Given the description of an element on the screen output the (x, y) to click on. 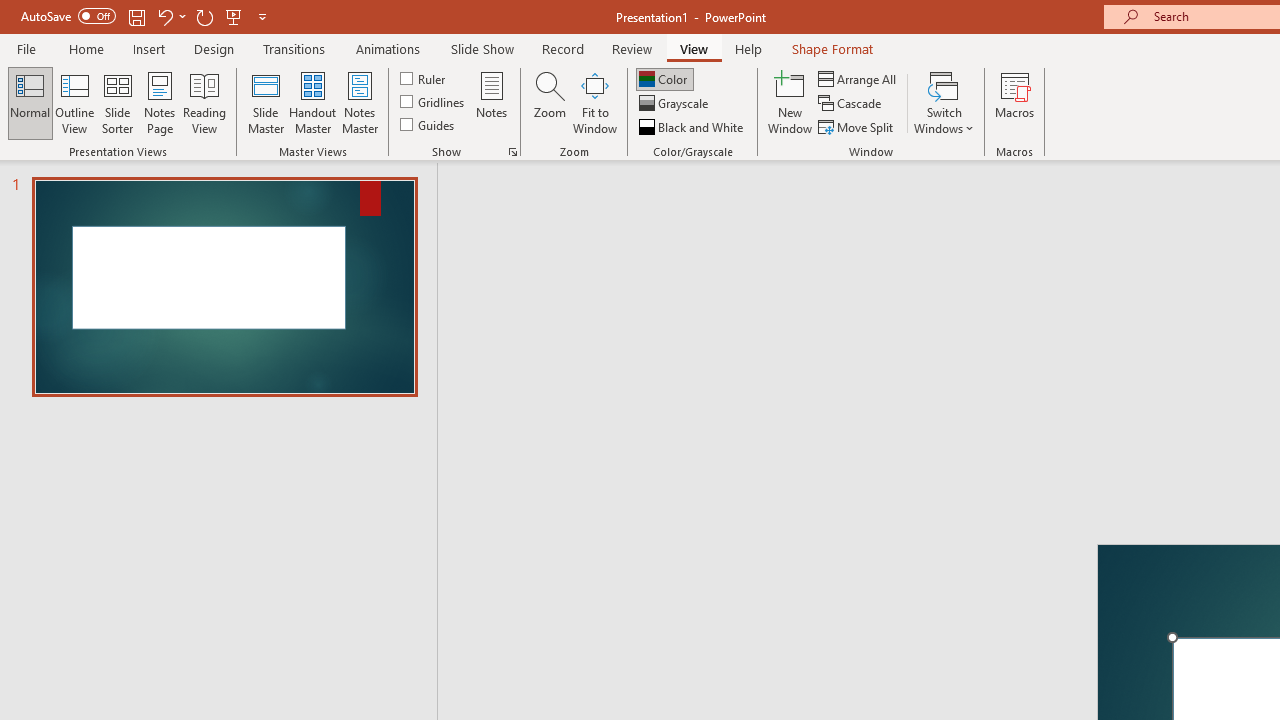
Macros (1014, 102)
Ruler (423, 78)
